Given the description of an element on the screen output the (x, y) to click on. 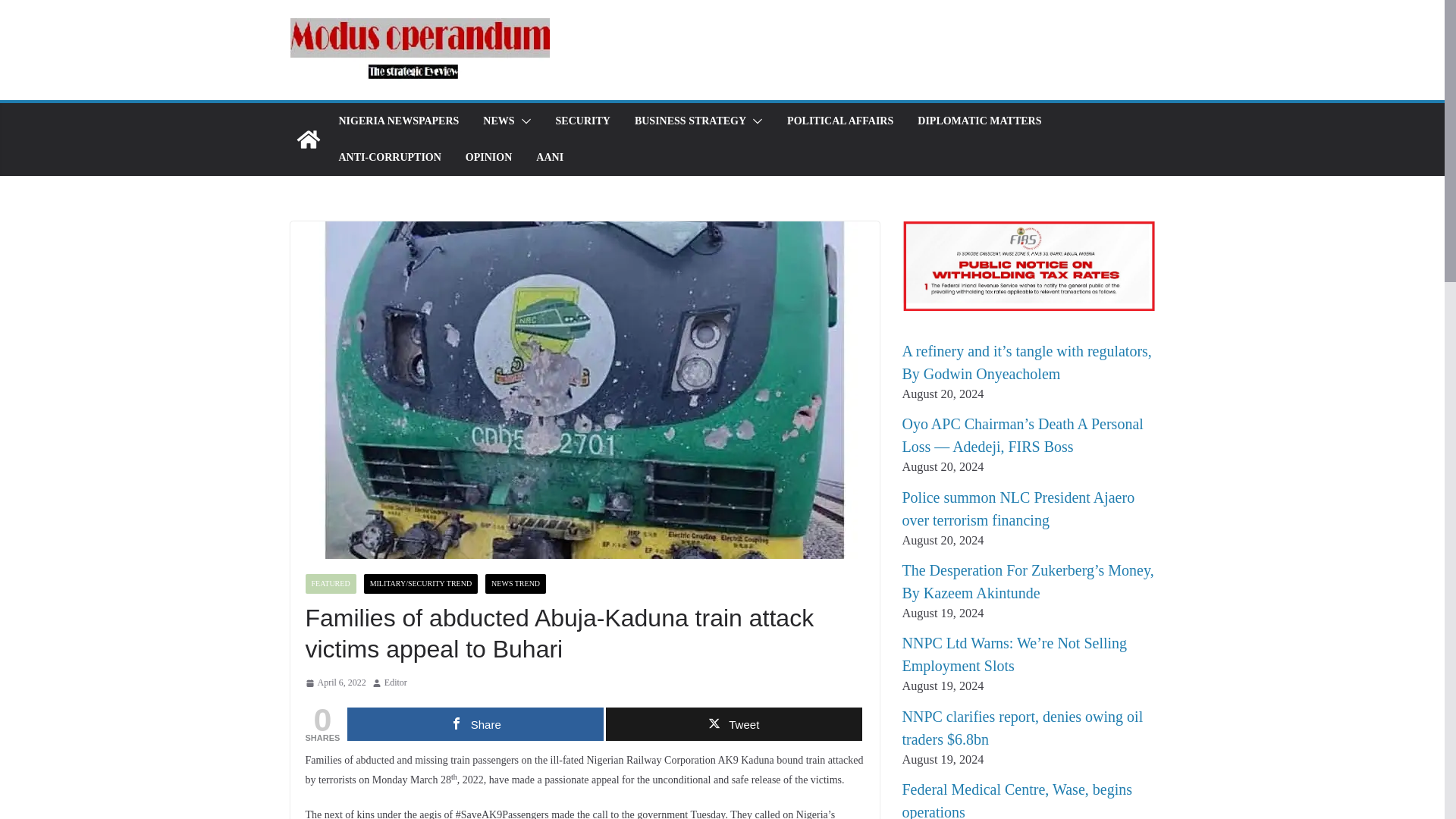
NEWS (498, 120)
Modus Operandum (307, 139)
11:07 pm (334, 682)
NEWS TREND (515, 583)
AANI (549, 157)
ANTI-CORRUPTION (389, 157)
Editor (395, 682)
BUSINESS STRATEGY (689, 120)
April 6, 2022 (334, 682)
SECURITY (583, 120)
